Given the description of an element on the screen output the (x, y) to click on. 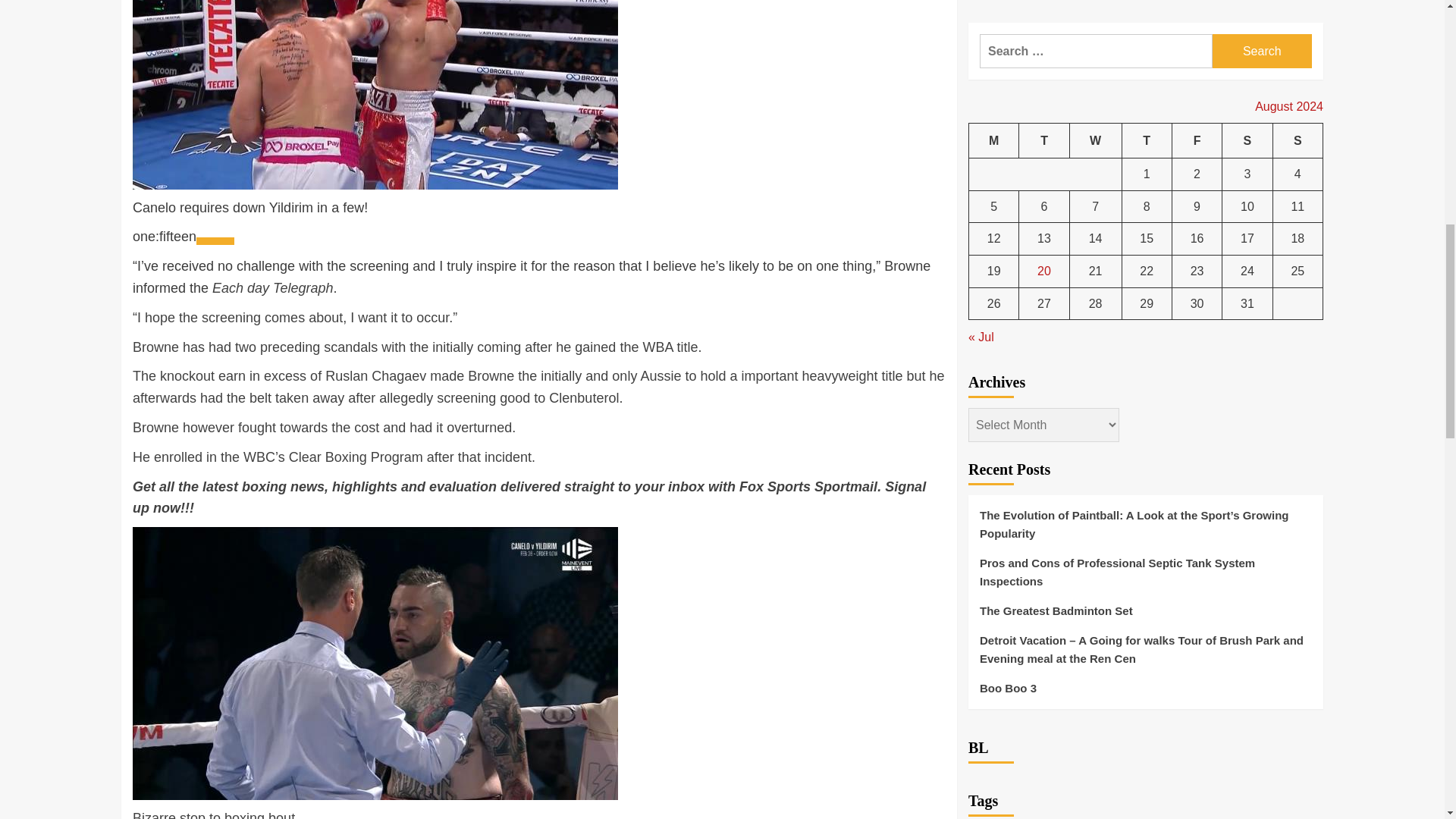
Each day Telegraph (272, 287)
Play this video (215, 240)
